Given the description of an element on the screen output the (x, y) to click on. 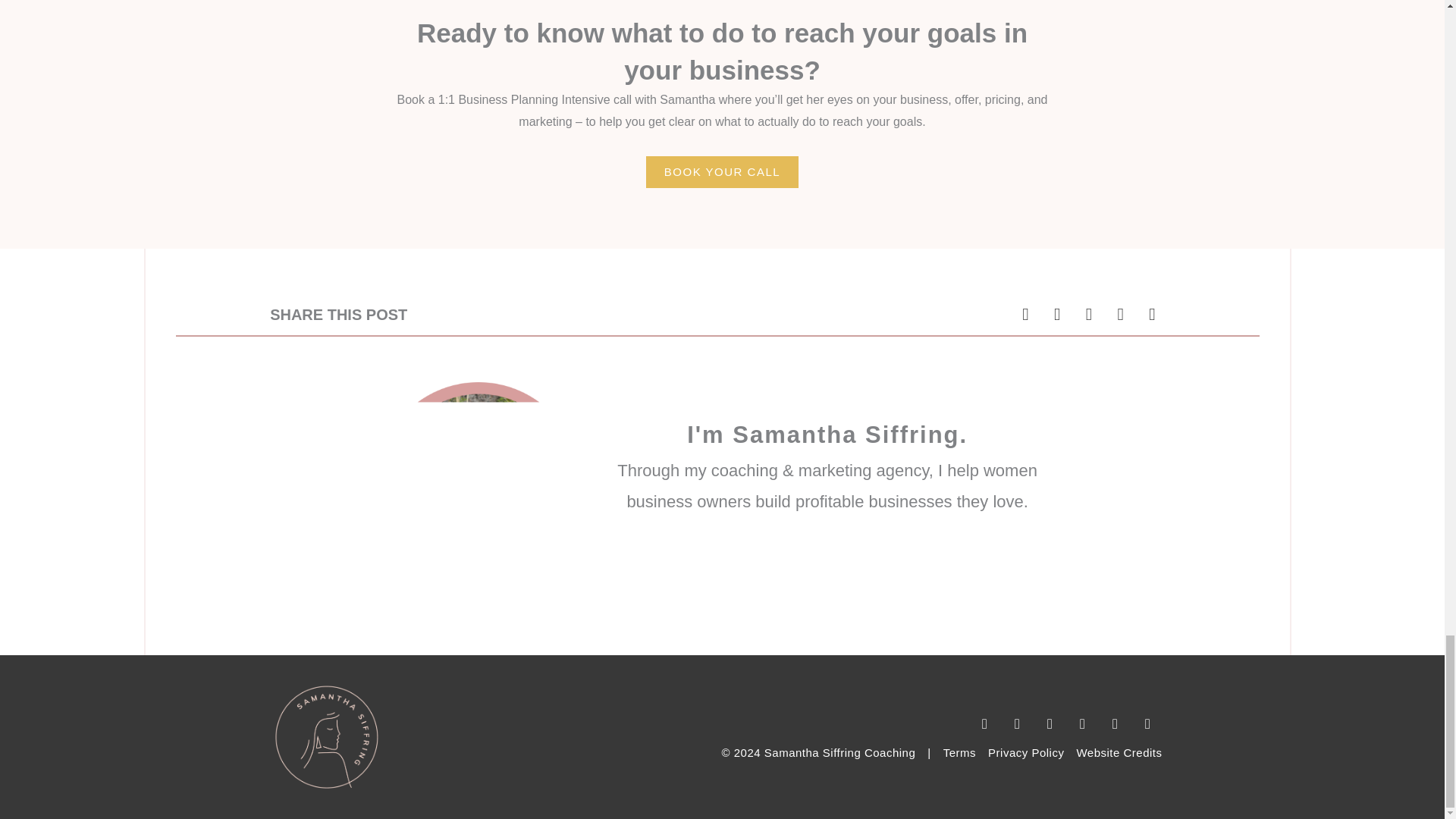
Instagram (1016, 723)
Spotify (1146, 723)
Facebook-f (1049, 723)
Privacy Policy (1026, 753)
BOOK YOUR CALL (721, 172)
Amazon (984, 723)
Pinterest (1081, 723)
Terms (959, 753)
Website Credits (1118, 753)
Apple (1114, 723)
